Given the description of an element on the screen output the (x, y) to click on. 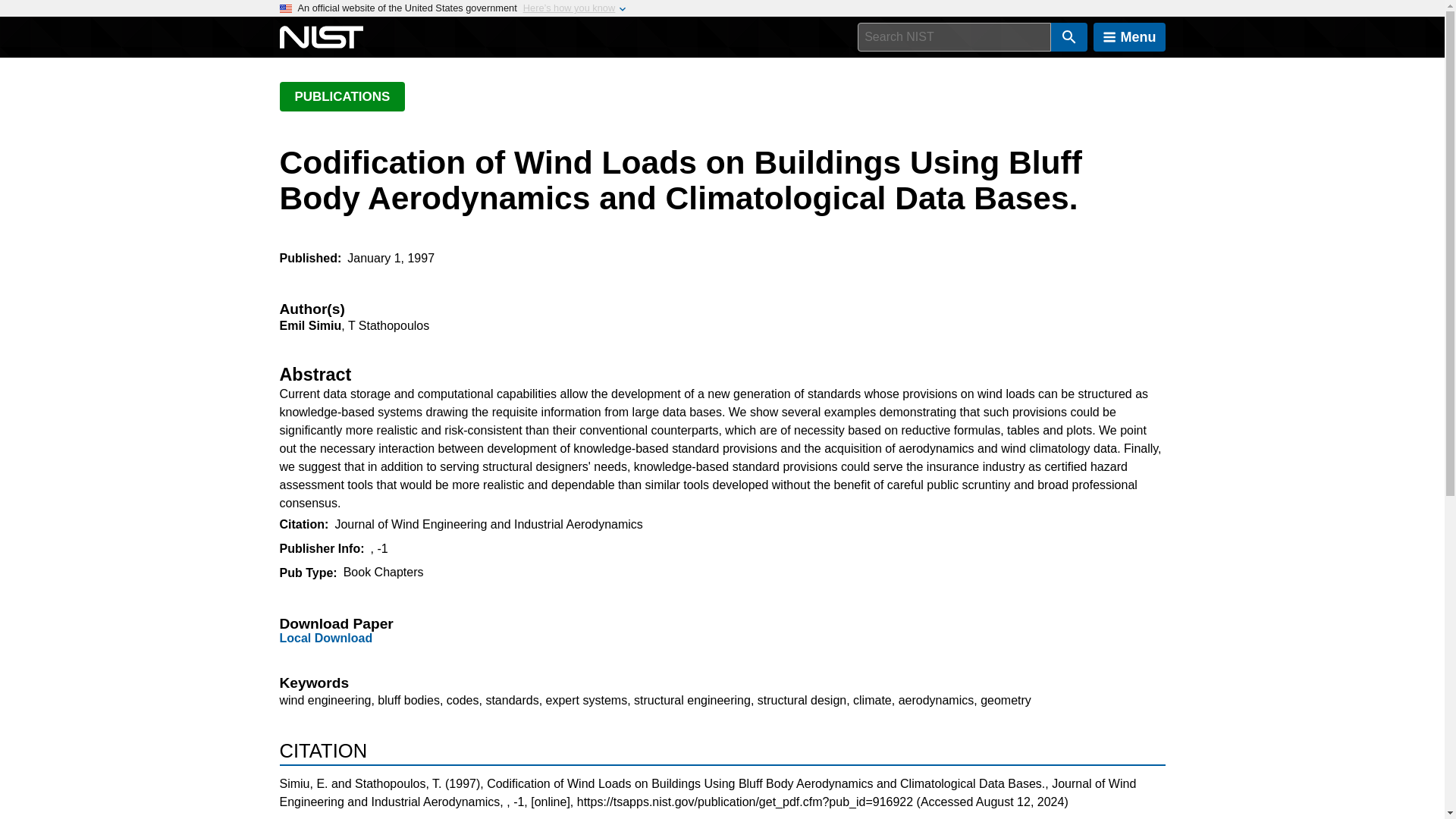
Local Download (325, 637)
PUBLICATIONS (341, 96)
Menu (1129, 36)
National Institute of Standards and Technology (320, 36)
